Given the description of an element on the screen output the (x, y) to click on. 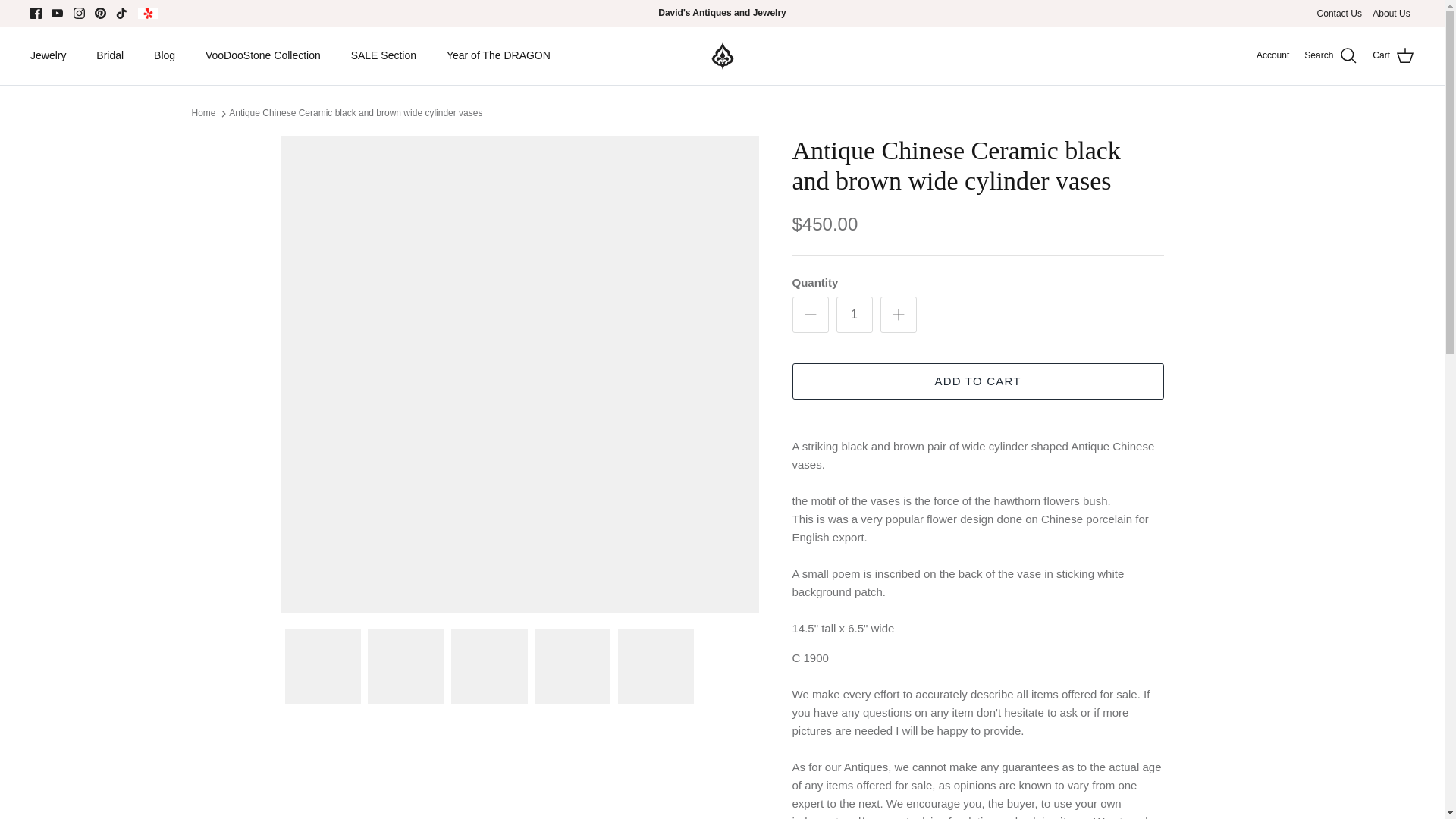
Cart (1393, 55)
Plus (897, 314)
Jewelry (48, 55)
Facebook (36, 12)
Year of The DRAGON (498, 55)
About Us (1391, 13)
Facebook (36, 12)
Youtube (56, 12)
Contact Us (1339, 13)
Account (1272, 55)
SALE Section (383, 55)
Search (1330, 55)
Pinterest (100, 12)
Blog (164, 55)
Instagram (79, 12)
